Given the description of an element on the screen output the (x, y) to click on. 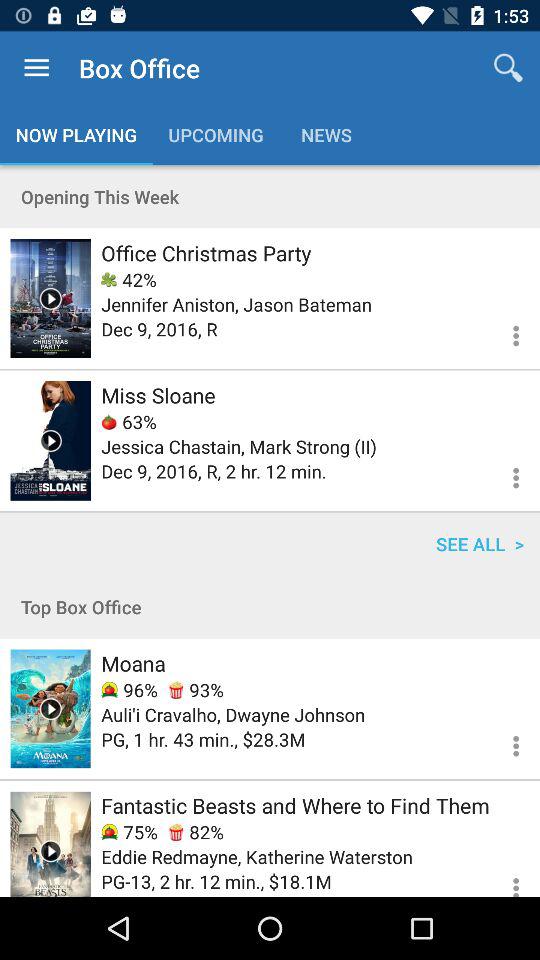
click the icon below 96% (233, 714)
